Given the description of an element on the screen output the (x, y) to click on. 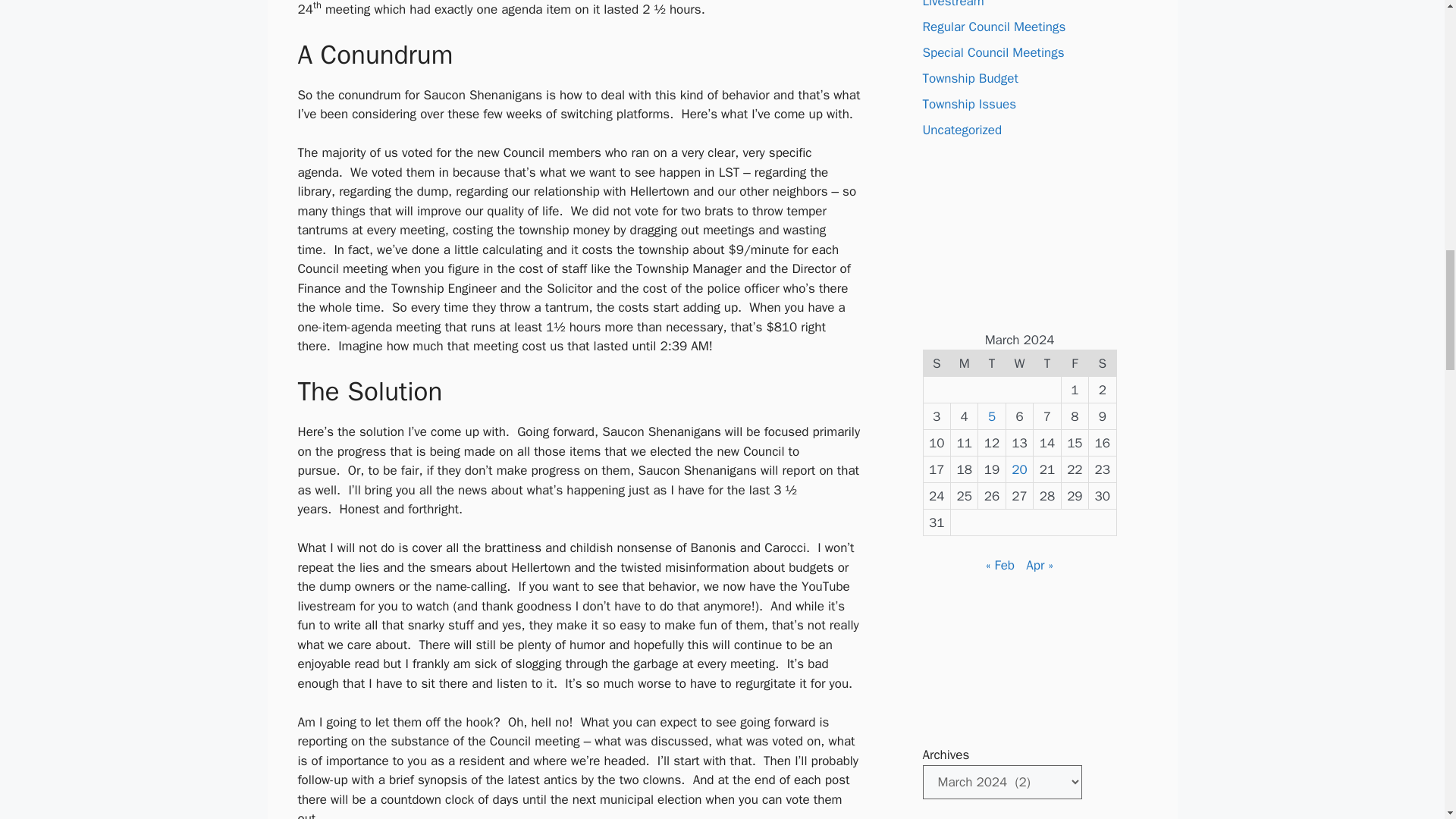
Friday (1074, 363)
Special Council Meetings (992, 52)
Livestream (952, 4)
Monday (963, 363)
Tuesday (992, 363)
Saturday (1102, 363)
Thursday (1047, 363)
Wednesday (1019, 363)
Township Issues (968, 104)
Sunday (936, 363)
